Given the description of an element on the screen output the (x, y) to click on. 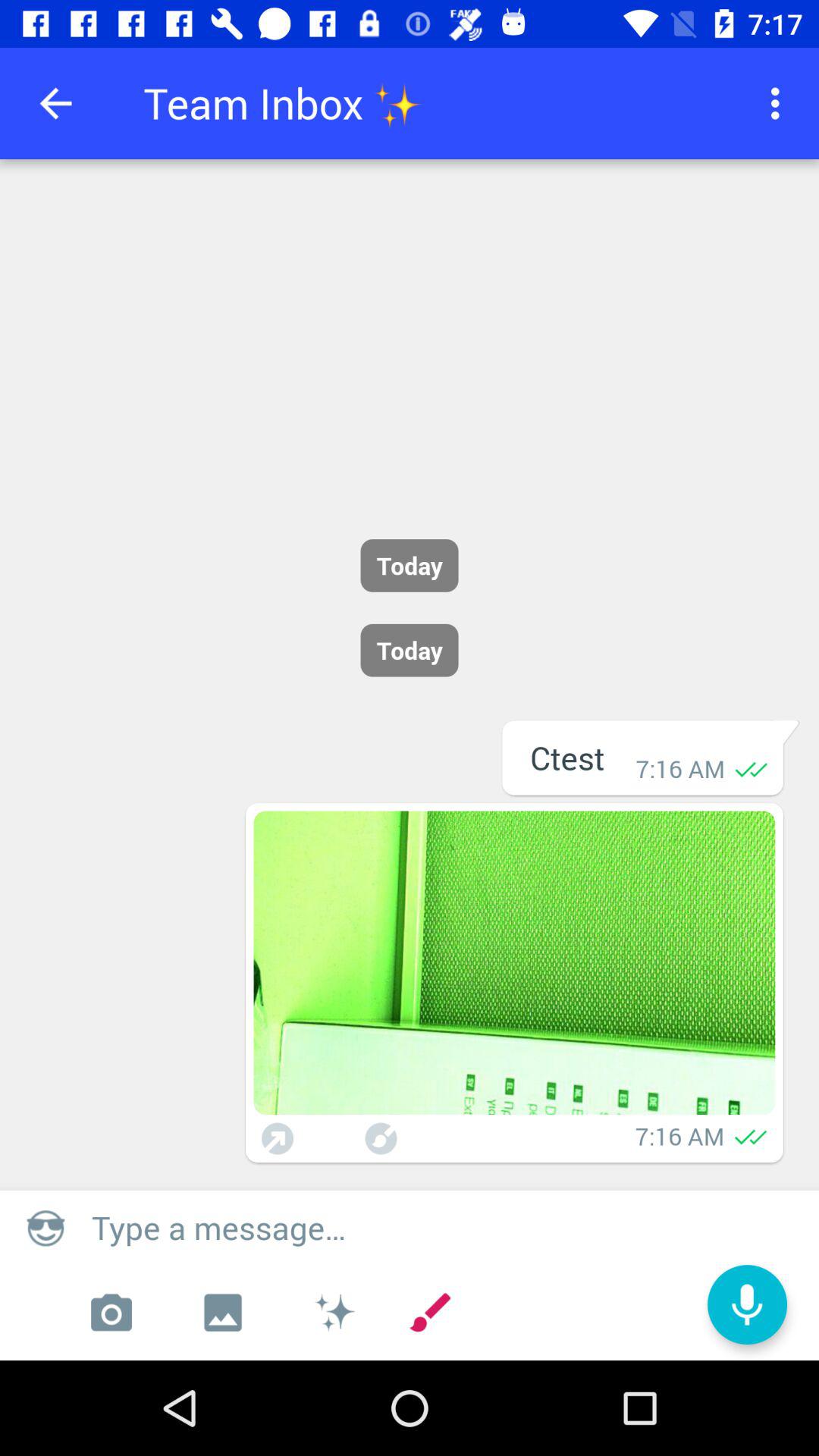
go to camera application (111, 1312)
